Given the description of an element on the screen output the (x, y) to click on. 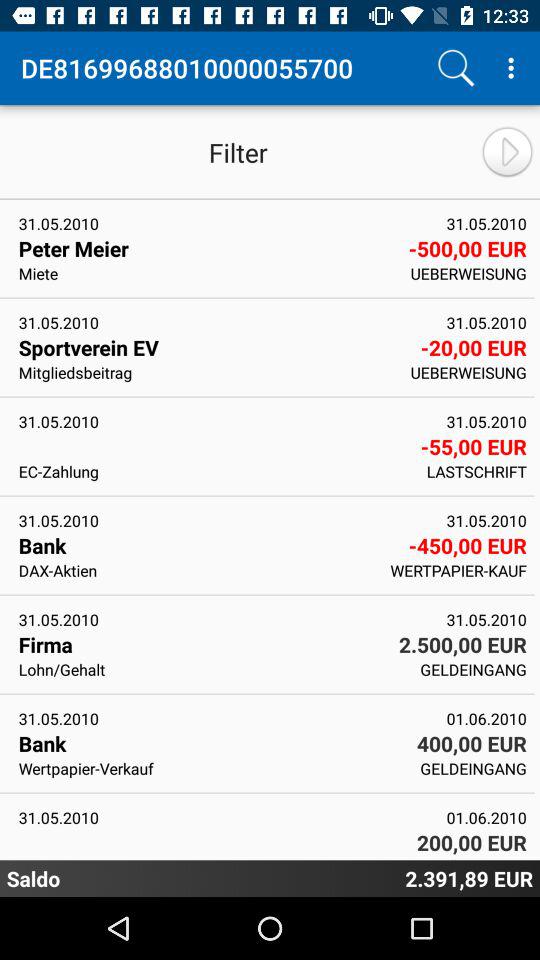
press the icon above 2 391 89 icon (487, 858)
